Given the description of an element on the screen output the (x, y) to click on. 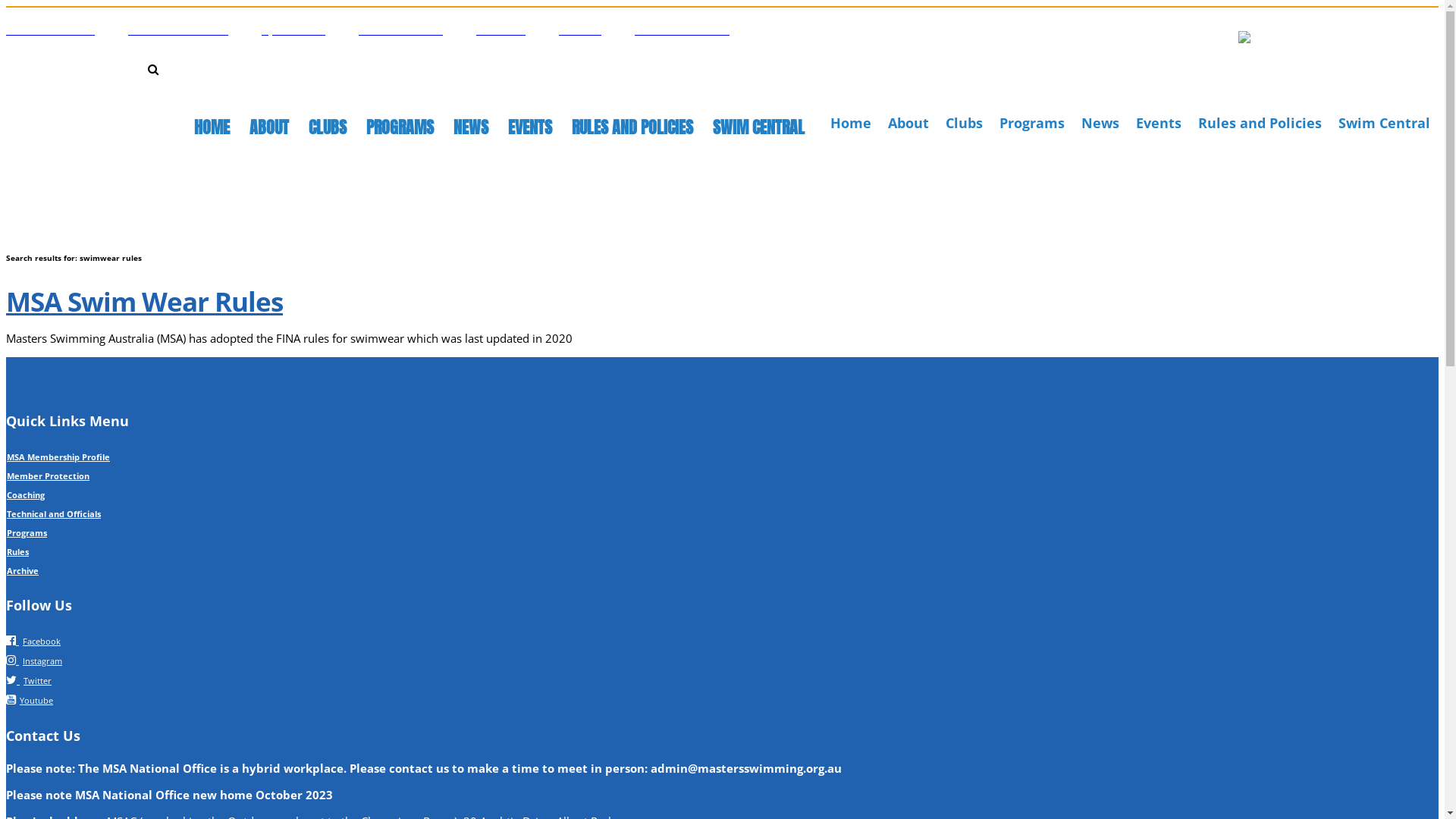
CLUBS Element type: text (327, 126)
Facebook Element type: text (33, 639)
Programs Element type: text (26, 532)
QUEENSLAND Element type: text (293, 29)
NEWS Element type: text (470, 126)
NEW SOUTH WALES Element type: text (50, 29)
Rules Element type: text (17, 551)
PROGRAMS Element type: text (399, 126)
News Element type: text (1100, 122)
SOUTH AUSTRALIA Element type: text (400, 29)
ABOUT Element type: text (268, 126)
Programs Element type: text (1031, 122)
NORTHERN TERRITORY Element type: text (178, 29)
Coaching Element type: text (25, 494)
Youtube Element type: text (29, 698)
TASMANIA Element type: text (500, 29)
HOME Element type: text (211, 126)
About Element type: text (908, 122)
MSA Membership Profile Element type: text (57, 456)
Twitter Element type: text (28, 679)
Events Element type: text (1158, 122)
Clubs Element type: text (963, 122)
Swim Central Element type: text (1384, 122)
Home Element type: text (850, 122)
SWIM CENTRAL Element type: text (758, 126)
Technical and Officials Element type: text (53, 513)
Search Element type: hover (1424, 18)
Rules and Policies Element type: text (1259, 122)
Archive Element type: text (22, 570)
EVENTS Element type: text (529, 126)
MSA Swim Wear Rules Element type: text (144, 301)
RULES AND POLICIES Element type: text (632, 126)
Member Protection Element type: text (47, 475)
VICTORIA Element type: text (579, 29)
WESTERN AUSTRALIA Element type: text (681, 29)
Instagram Element type: text (34, 659)
swimwear rules Element type: text (165, 94)
